Given the description of an element on the screen output the (x, y) to click on. 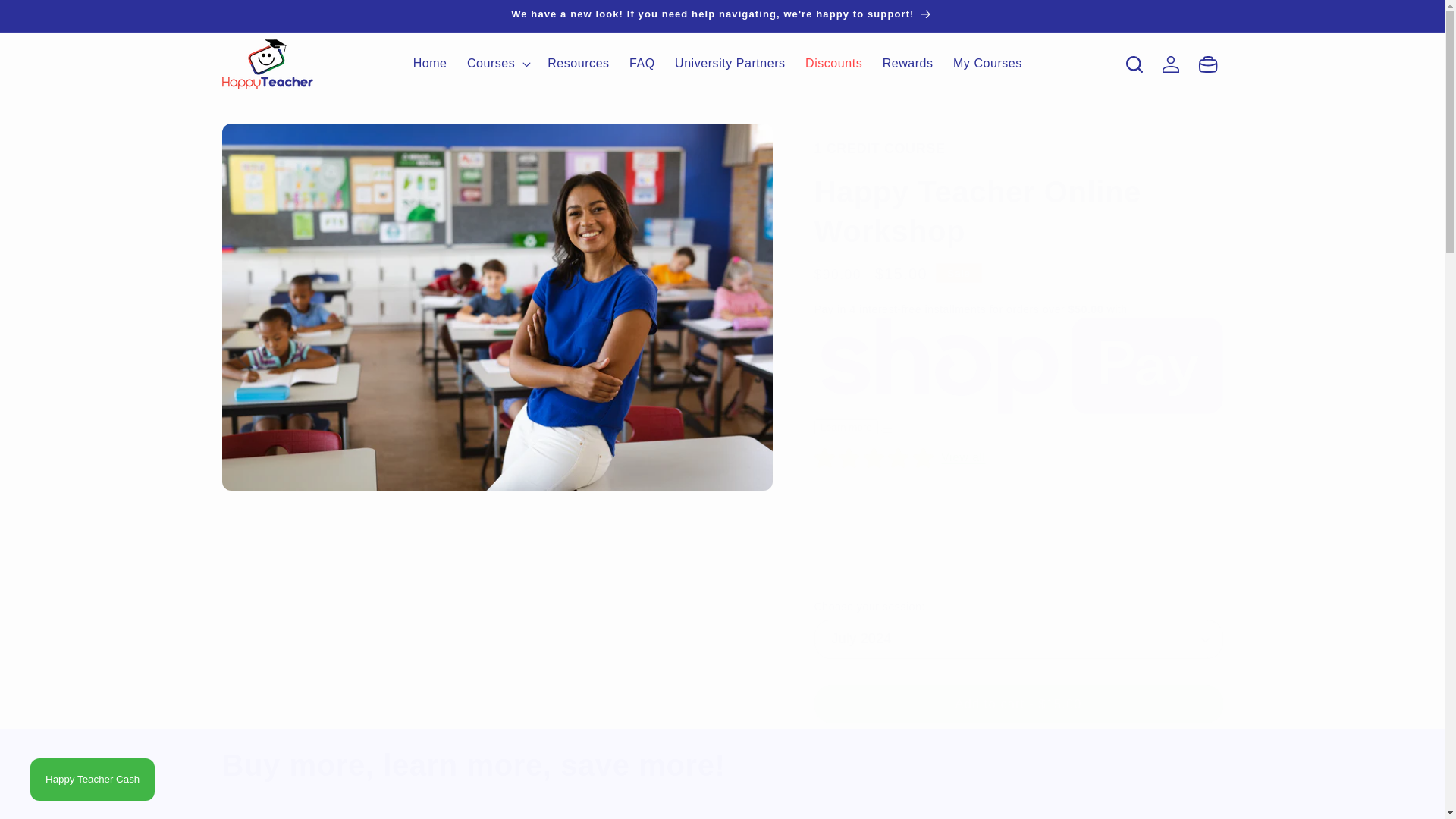
Skip to content (50, 19)
